Given the description of an element on the screen output the (x, y) to click on. 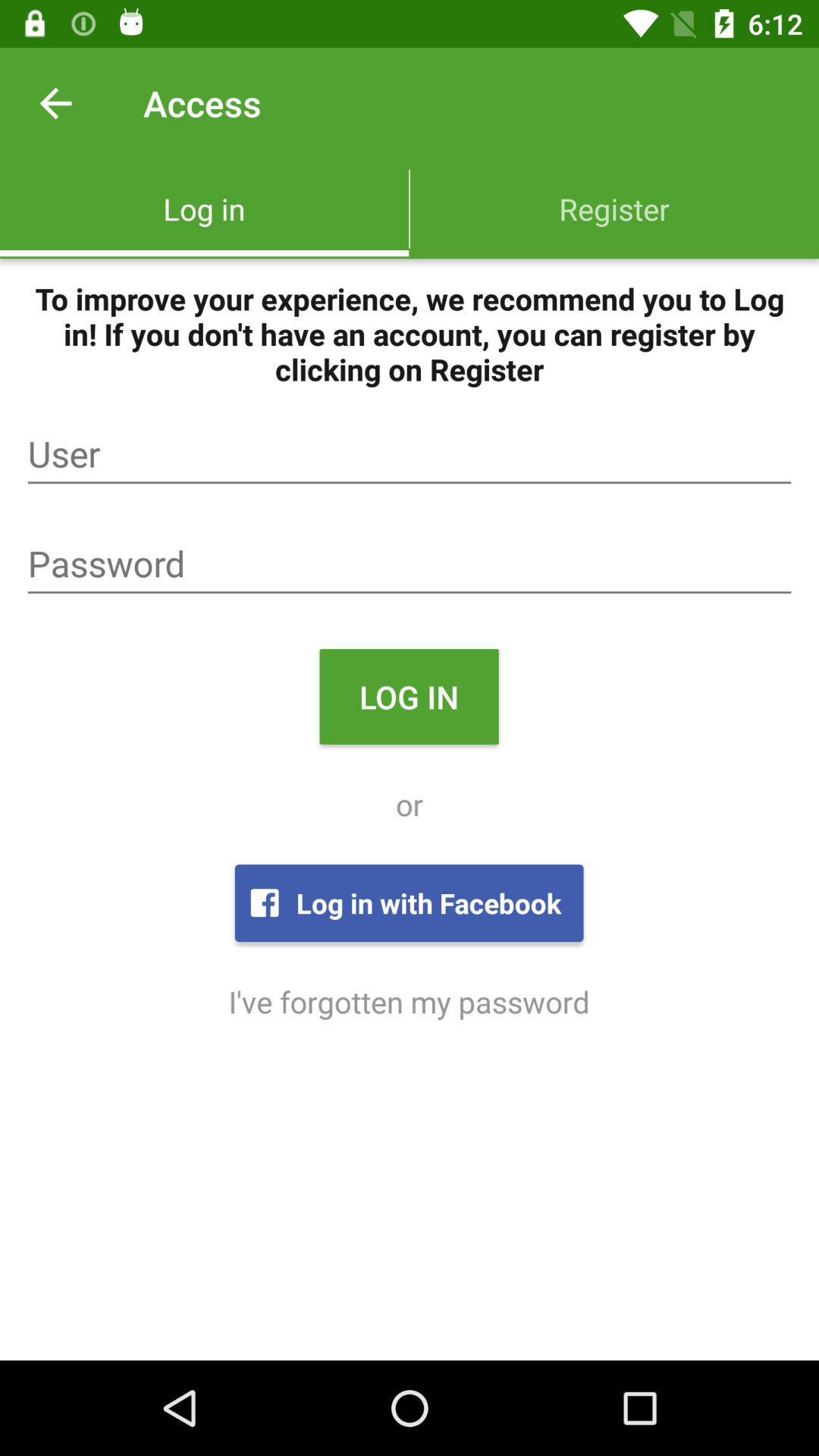
turn off icon next to the access icon (55, 103)
